Given the description of an element on the screen output the (x, y) to click on. 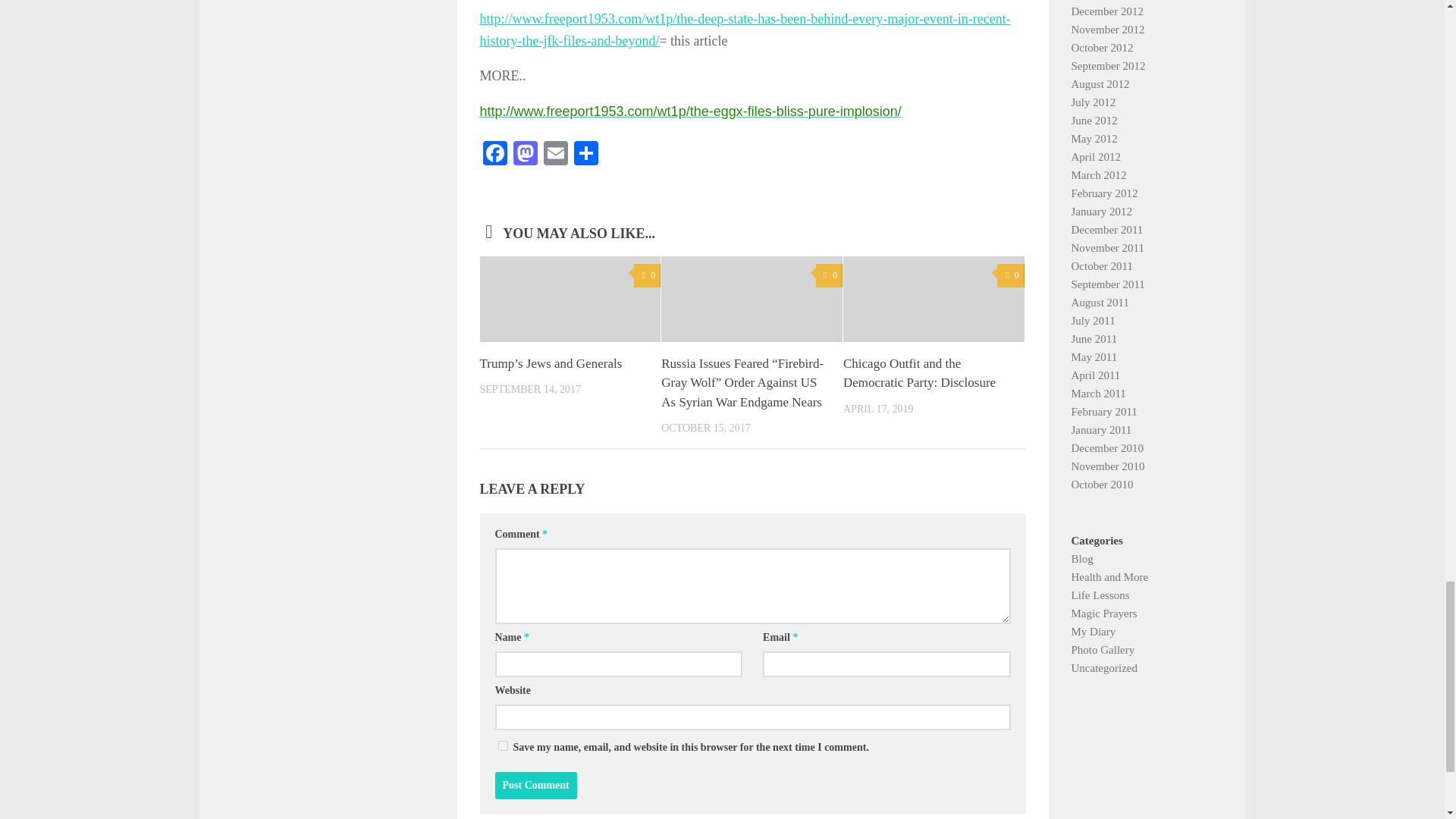
Email (555, 154)
yes (501, 746)
Post Comment (535, 785)
Facebook (494, 154)
Mastodon (524, 154)
